Given the description of an element on the screen output the (x, y) to click on. 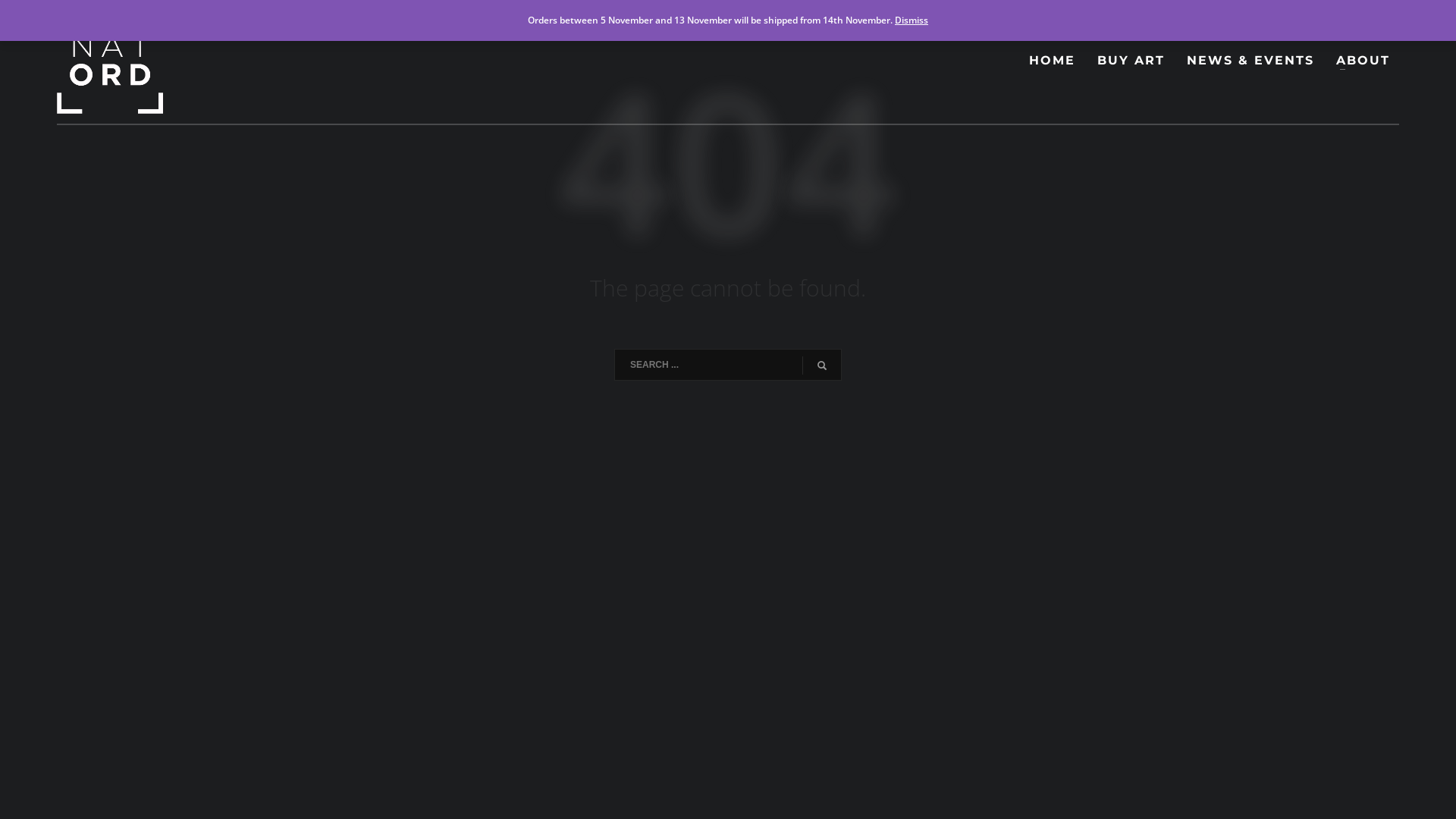
Dismiss Element type: text (911, 19)
HOME Element type: text (1051, 60)
ABOUT Element type: text (1363, 60)
BUY ART Element type: text (1130, 60)
Nat Ord Artist Element type: hover (109, 60)
NEWS & EVENTS Element type: text (1250, 60)
go Element type: text (821, 365)
